Given the description of an element on the screen output the (x, y) to click on. 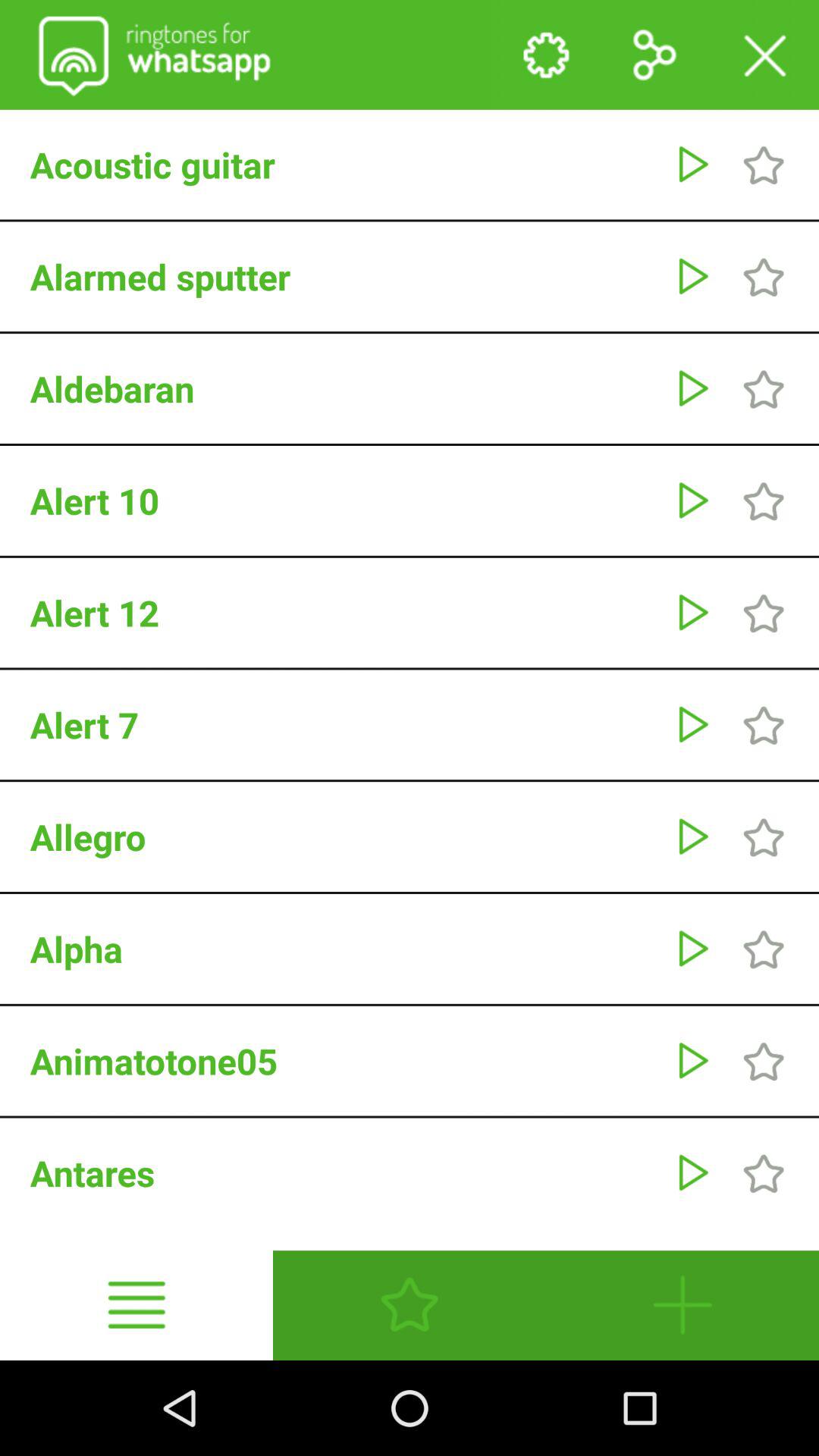
turn on the alert 7 item (344, 724)
